Given the description of an element on the screen output the (x, y) to click on. 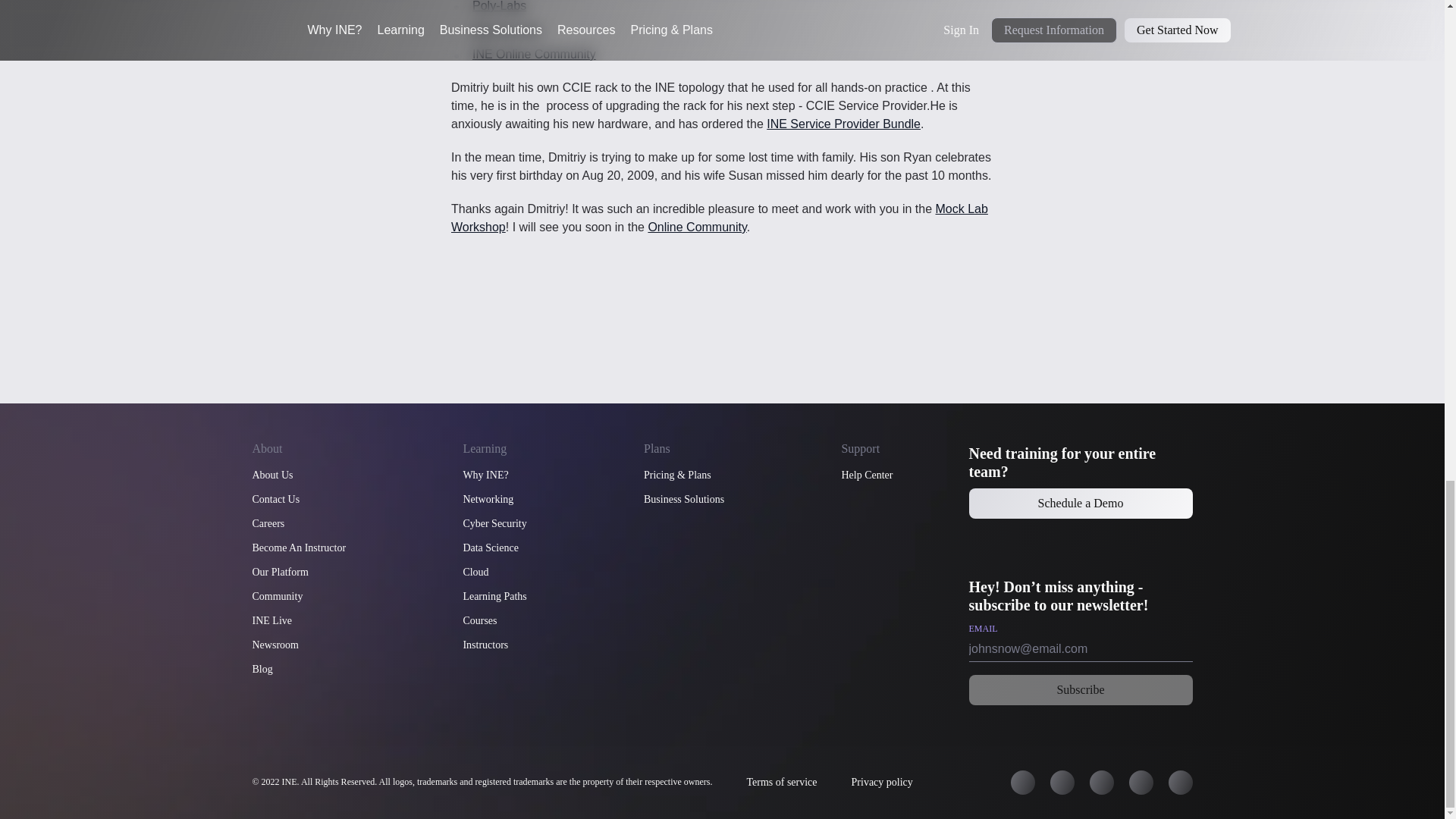
INE Service Provider Bundle (843, 123)
INE Online Community (533, 53)
Mock Lab Workshop (719, 217)
Online Community (696, 226)
blog.ine.com (506, 29)
Poly-Labs (498, 6)
